Given the description of an element on the screen output the (x, y) to click on. 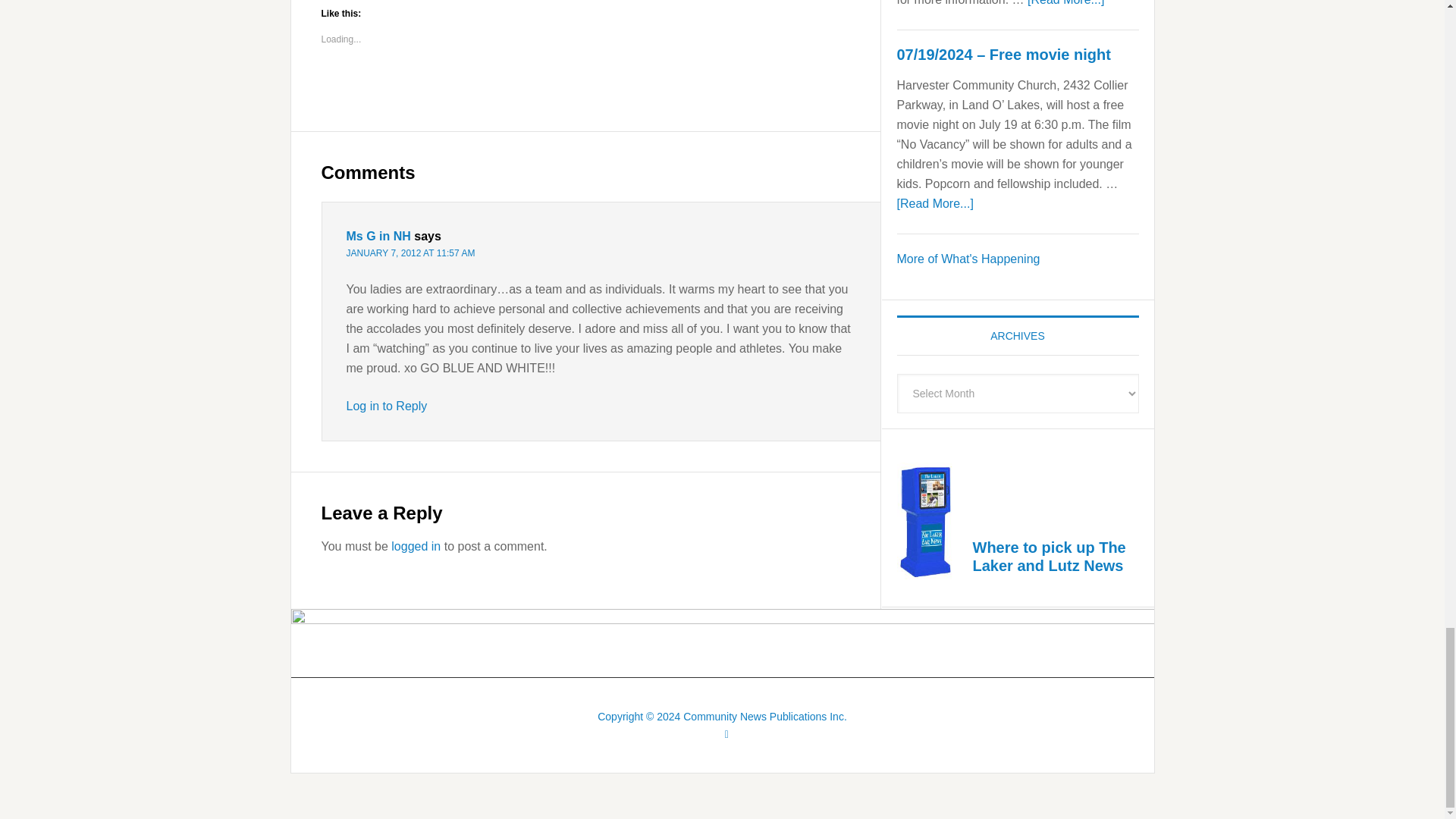
What's Happening (967, 258)
